Given the description of an element on the screen output the (x, y) to click on. 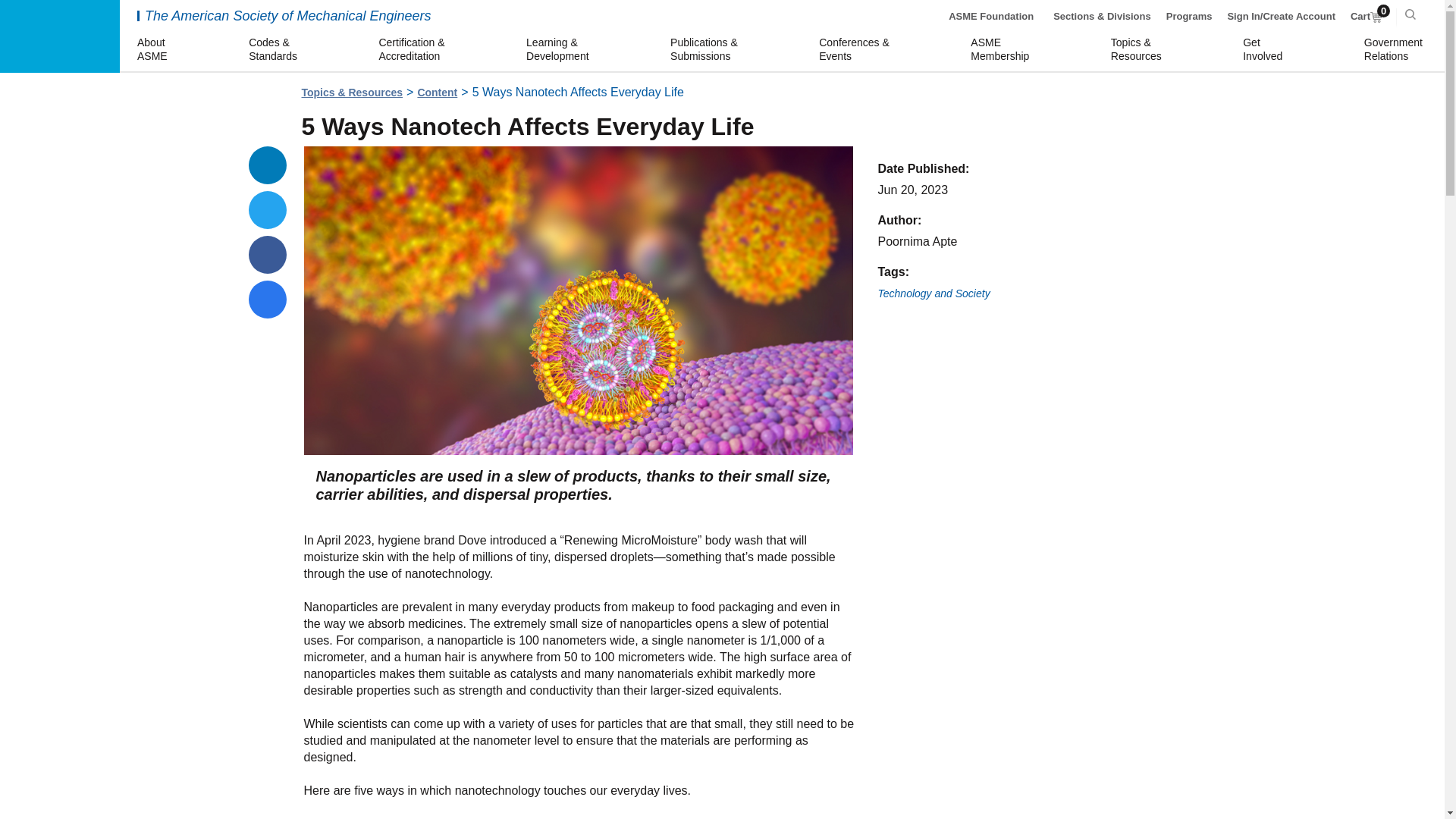
Content (1002, 49)
ASME (436, 92)
Technology and Society (1395, 49)
ASME Foundation (1265, 49)
Share on LinkedIn (59, 36)
Share via email (933, 293)
Programs (991, 16)
Share on Twitter (267, 165)
Share on Facebook (267, 299)
